Given the description of an element on the screen output the (x, y) to click on. 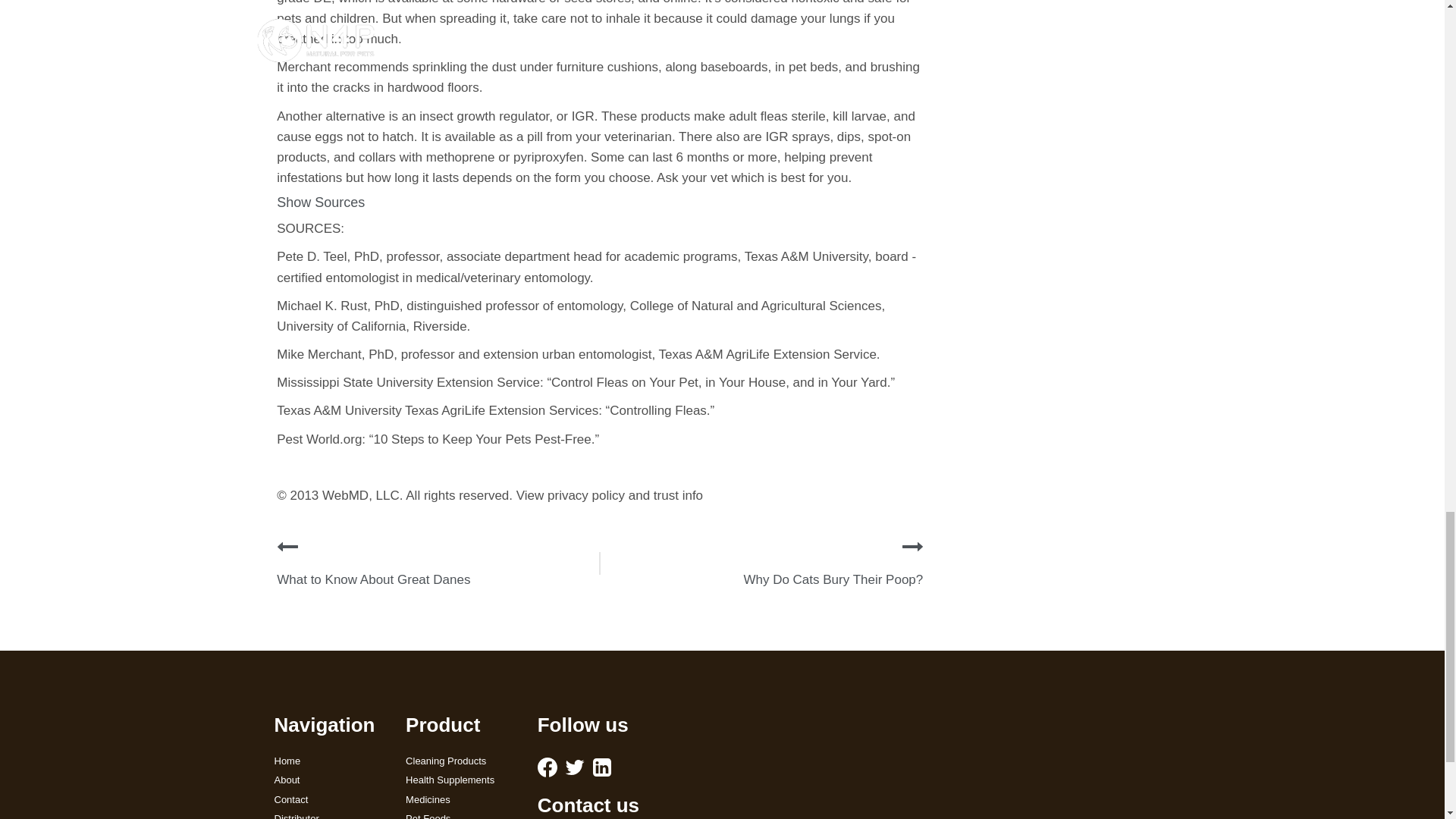
What to Know About Great Danes (373, 579)
Why Do Cats Bury Their Poop? (832, 579)
Twitter (574, 767)
Linkedin (601, 767)
next article (912, 546)
previous article (287, 546)
Home (329, 761)
